Given the description of an element on the screen output the (x, y) to click on. 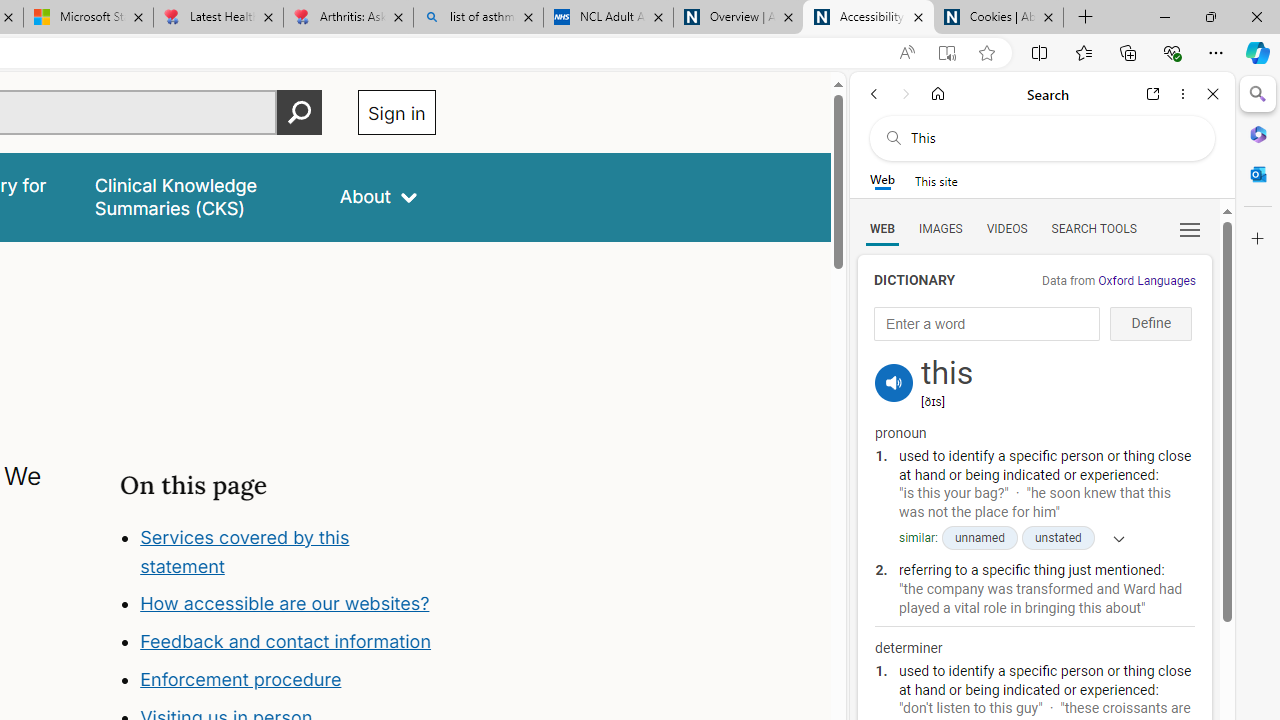
unnamed (978, 538)
Enforcement procedure (240, 679)
Cookies | About | NICE (998, 17)
Feedback and contact information (285, 641)
Show more (1112, 538)
Accessibility | NICE (868, 17)
How accessible are our websites? (284, 603)
